Given the description of an element on the screen output the (x, y) to click on. 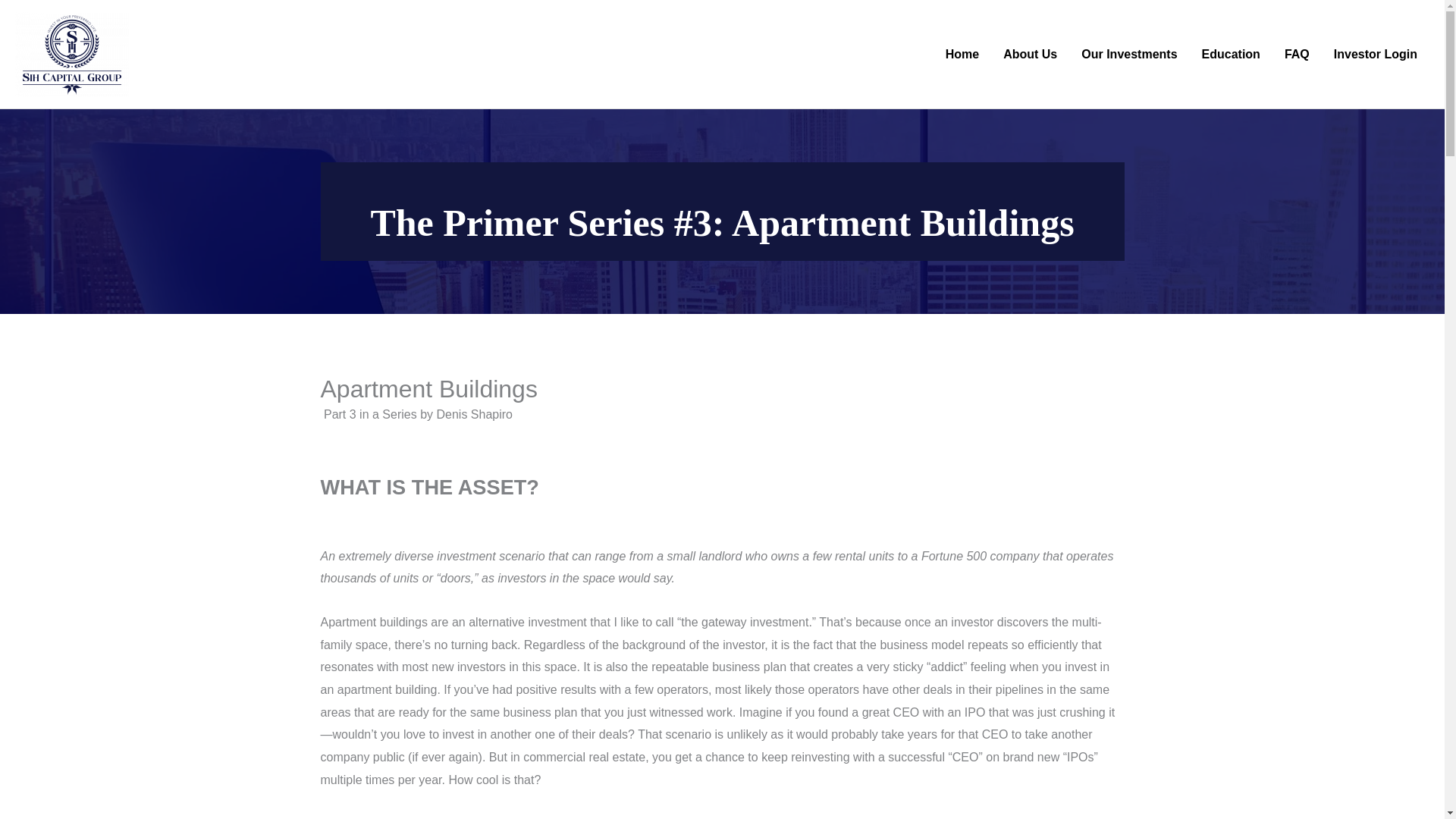
Education (1230, 53)
FAQ (1297, 53)
Home (962, 53)
About Us (1029, 53)
Investor Login (1375, 53)
Our Investments (1128, 53)
